Given the description of an element on the screen output the (x, y) to click on. 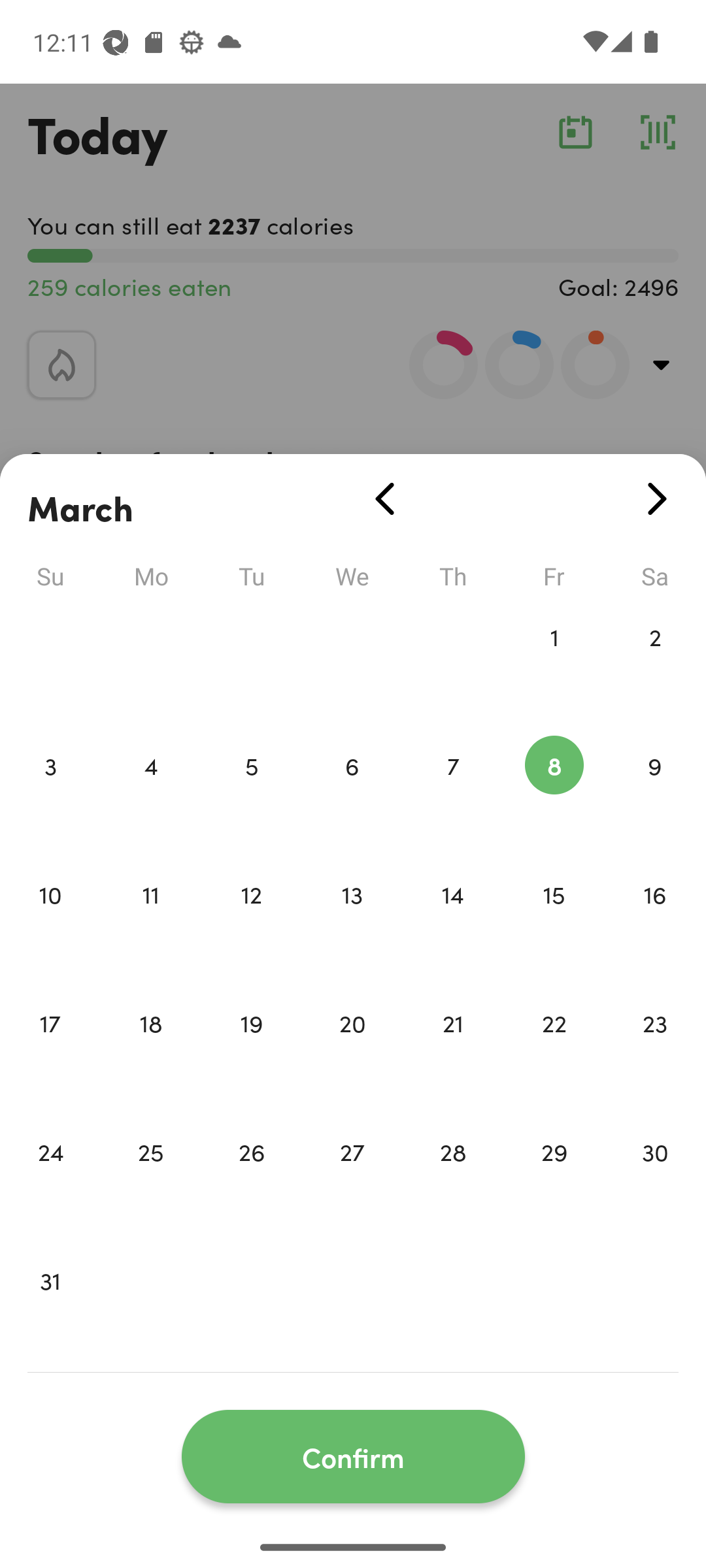
1 (554, 663)
2 (655, 663)
3 (50, 793)
4 (150, 793)
5 (251, 793)
6 (352, 793)
7 (453, 793)
8 (554, 793)
9 (655, 793)
10 (50, 921)
11 (150, 921)
12 (251, 921)
13 (352, 921)
14 (453, 921)
15 (554, 921)
16 (655, 921)
17 (50, 1050)
18 (150, 1050)
19 (251, 1050)
20 (352, 1050)
21 (453, 1050)
22 (554, 1050)
23 (655, 1050)
24 (50, 1178)
25 (150, 1178)
26 (251, 1178)
27 (352, 1178)
28 (453, 1178)
29 (554, 1178)
30 (655, 1178)
31 (50, 1307)
Confirm (353, 1456)
